Given the description of an element on the screen output the (x, y) to click on. 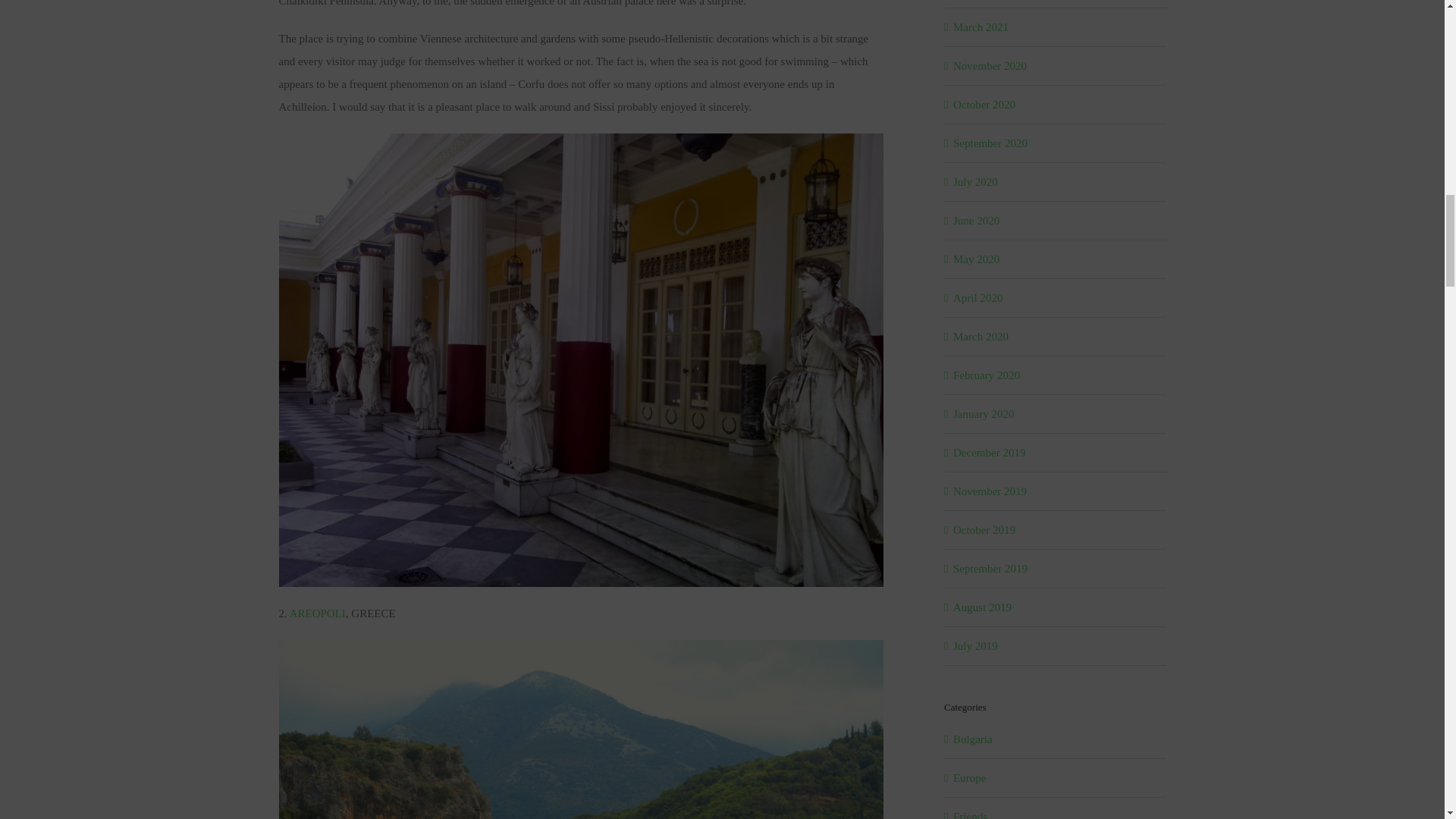
AREOPOLI (317, 613)
